Given the description of an element on the screen output the (x, y) to click on. 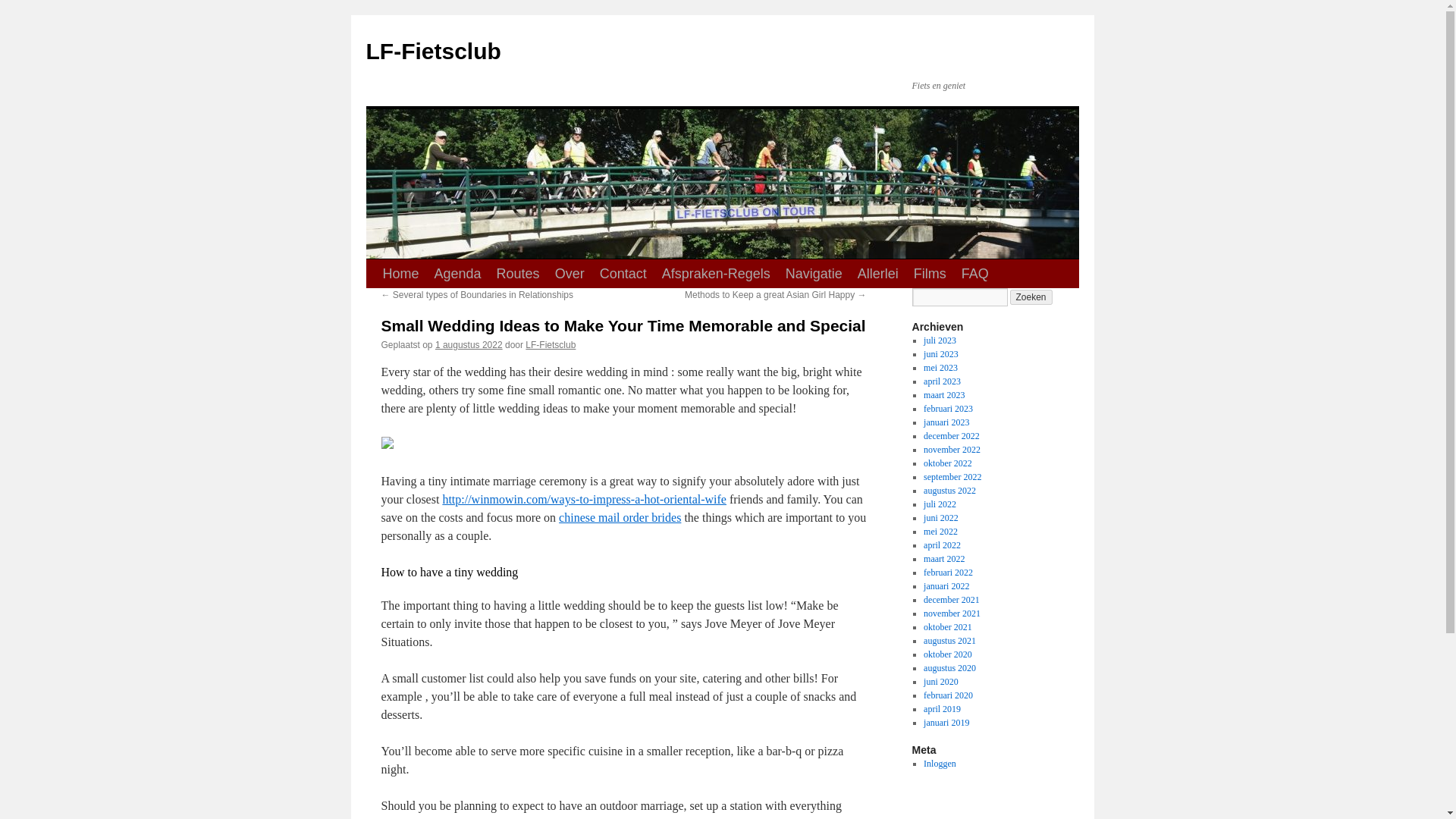
Contact (622, 273)
Alle berichten tonen van LF-Fietsclub (550, 344)
mei 2023 (940, 367)
juli 2023 (939, 339)
april 2022 (941, 544)
juni 2022 (940, 517)
LF-Fietsclub (432, 50)
oktober 2022 (947, 462)
juni 2023 (940, 353)
januari 2023 (946, 421)
Routes (518, 273)
1 augustus 2022 (468, 344)
Zoeken (1031, 296)
00:00 (468, 344)
Home (400, 273)
